Given the description of an element on the screen output the (x, y) to click on. 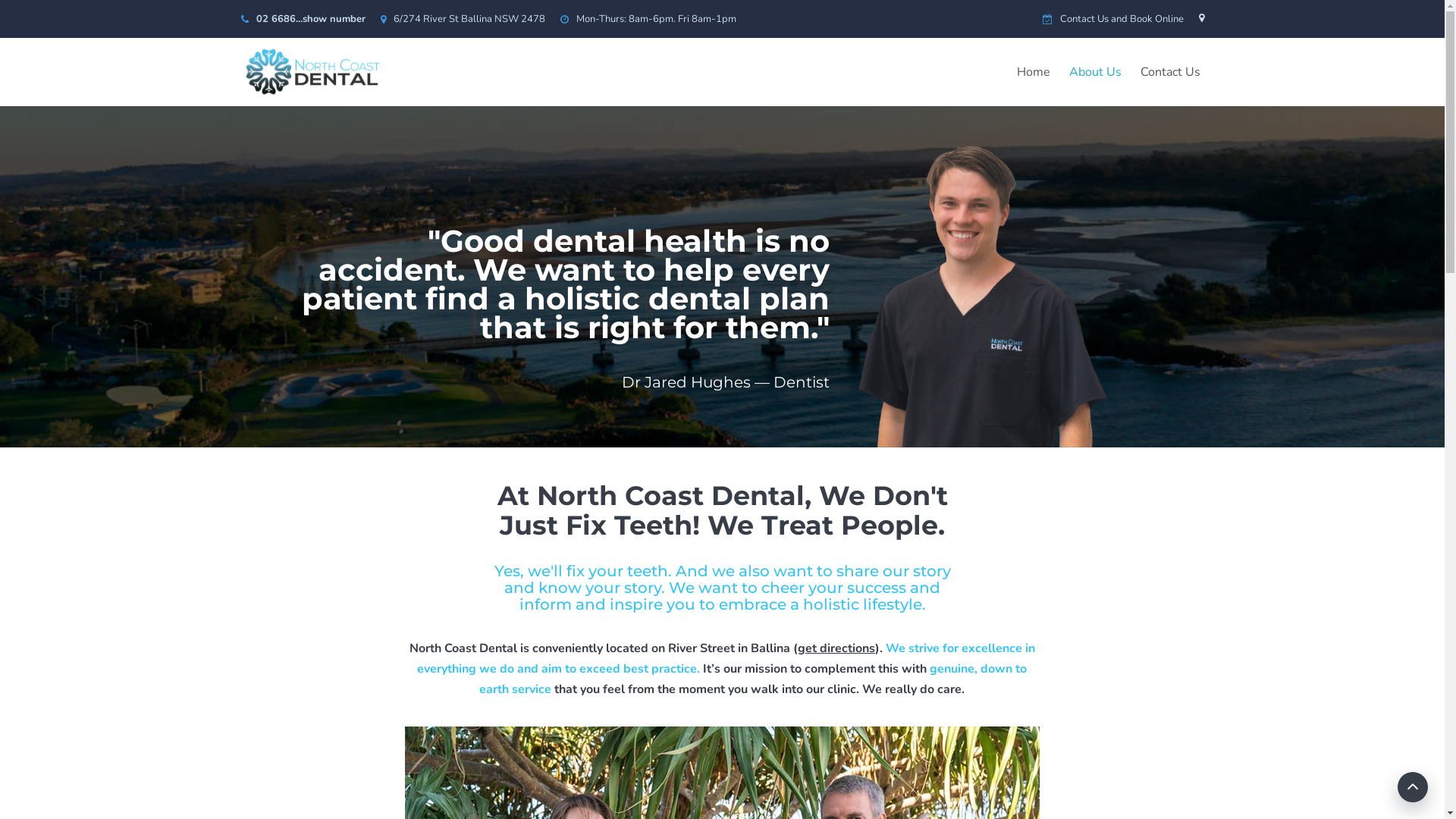
Scroll to top Element type: hover (1412, 786)
get directions Element type: text (836, 648)
About Us Element type: text (1094, 71)
Contact Us and Book Online Element type: text (1121, 18)
02 6686...show number Element type: text (310, 18)
6/274 River St Ballina NSW 2478 Element type: text (468, 18)
Home Element type: text (1033, 71)
Contact Us Element type: text (1169, 71)
